Given the description of an element on the screen output the (x, y) to click on. 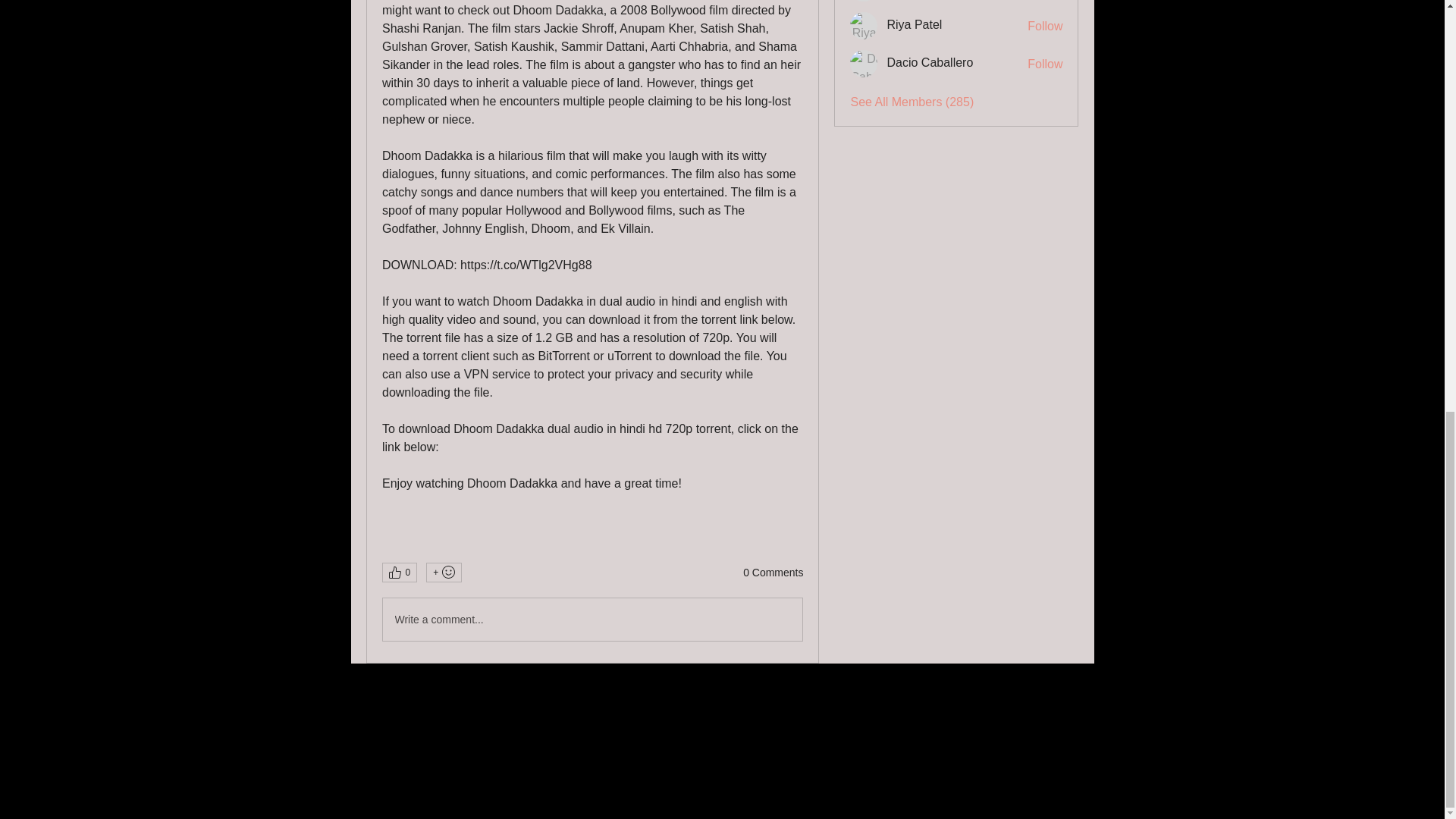
0 Comments (772, 572)
Write a comment... (591, 619)
Dacio Caballero (863, 62)
Charles Brown (863, 0)
Follow (1044, 26)
Follow (1044, 64)
Riya Patel (863, 25)
